Given the description of an element on the screen output the (x, y) to click on. 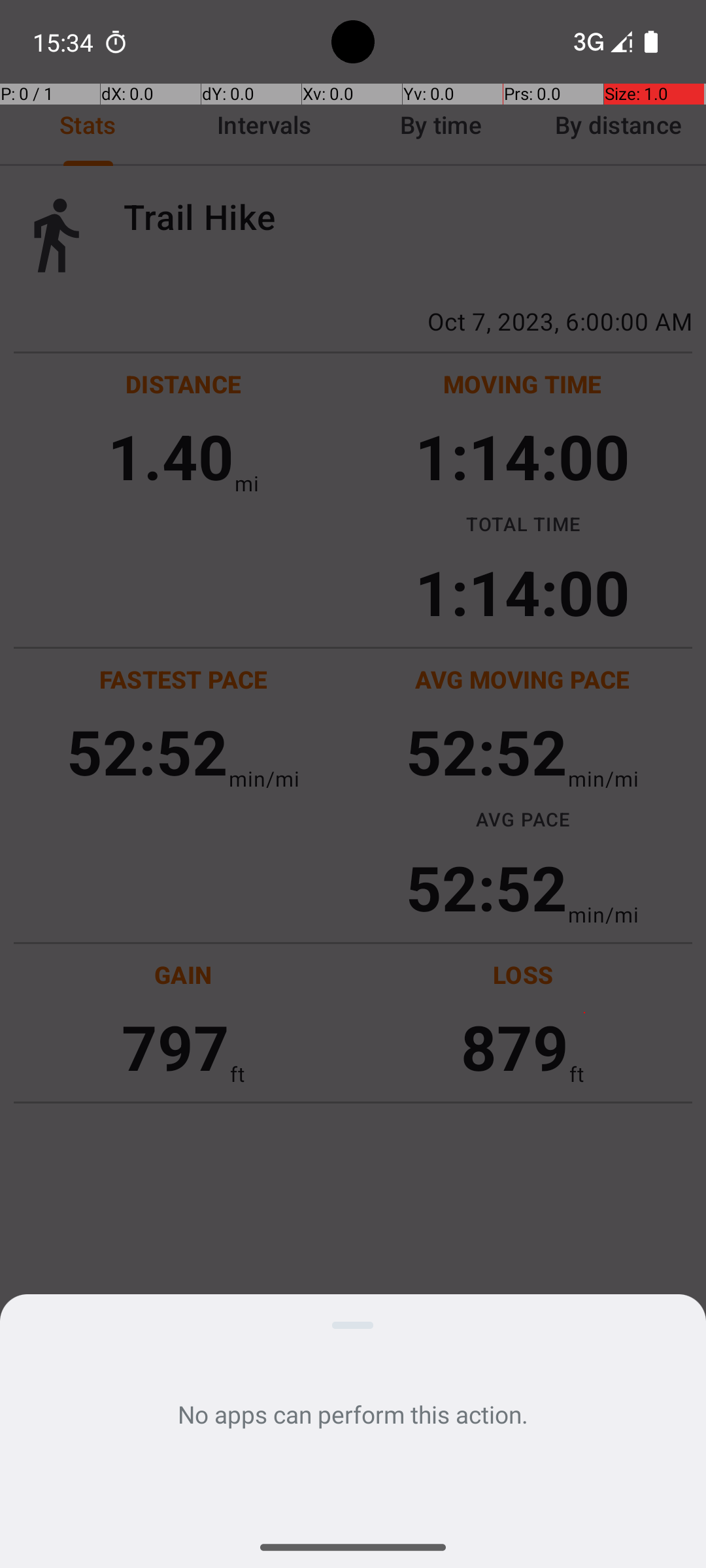
No apps can perform this action. Element type: android.widget.TextView (352, 1413)
